Given the description of an element on the screen output the (x, y) to click on. 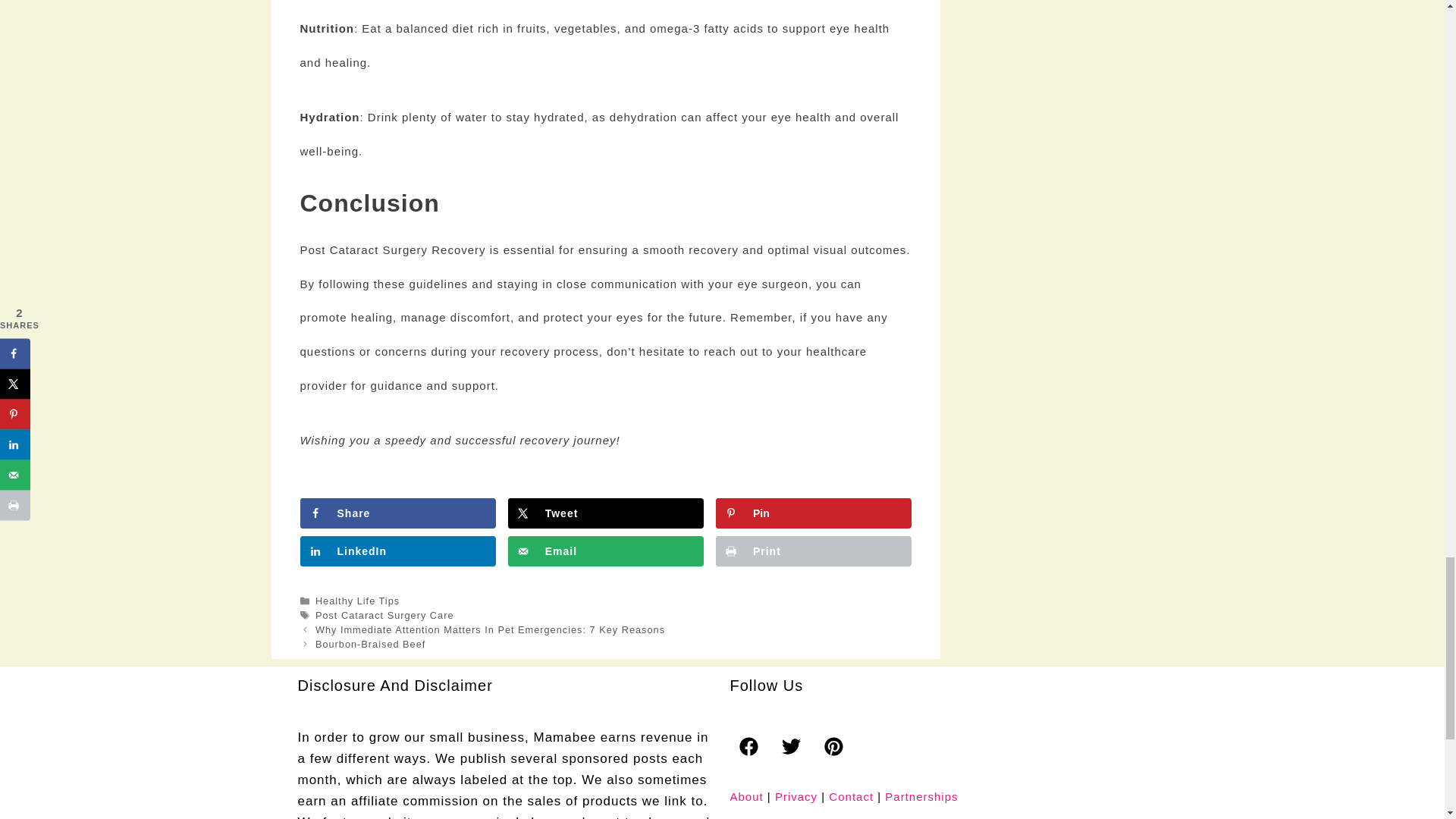
Share on Facebook (397, 512)
Share on X (605, 512)
Save to Pinterest (813, 512)
Share on LinkedIn (397, 551)
Send over email (605, 551)
Print this webpage (813, 551)
